Given the description of an element on the screen output the (x, y) to click on. 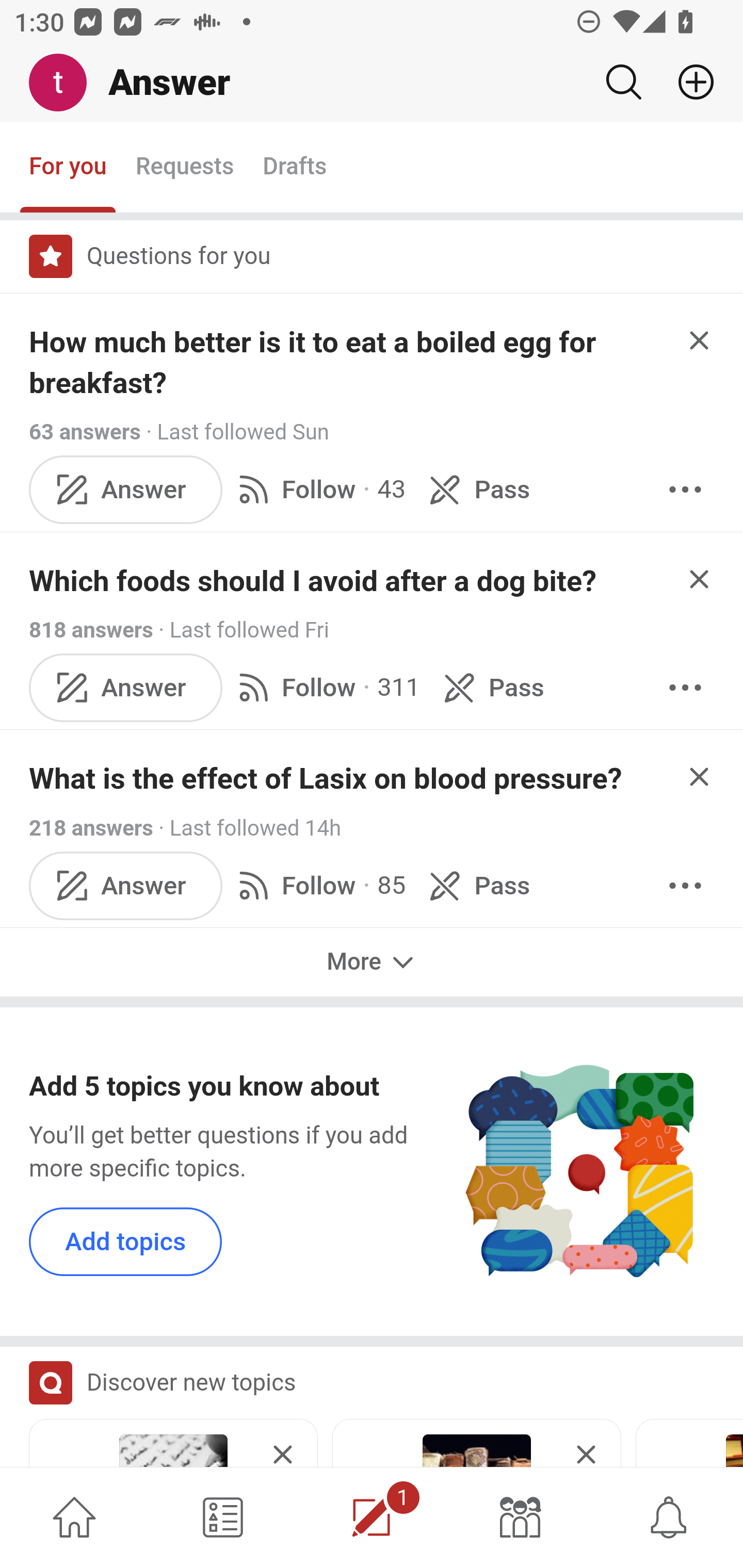
Me (64, 83)
Search (623, 82)
Add (688, 82)
For you (68, 167)
Requests (183, 167)
Drafts (295, 167)
Hide (699, 340)
63 answers 63  answers (84, 431)
Answer (125, 488)
Follow · 43 (317, 488)
Pass (476, 488)
More (684, 488)
Hide (699, 579)
Which foods should I avoid after a dog bite? (312, 580)
818 answers 818  answers (90, 629)
Answer (125, 687)
Follow · 311 (324, 687)
Pass (490, 687)
More (684, 687)
Hide (699, 776)
What is the effect of Lasix on blood pressure? (325, 779)
218 answers 218  answers (90, 828)
Answer (125, 886)
Follow · 85 (317, 886)
Pass (476, 886)
More (684, 886)
More (371, 961)
Add topics (125, 1240)
Hide this card (282, 1444)
Hide this card (585, 1444)
